Given the description of an element on the screen output the (x, y) to click on. 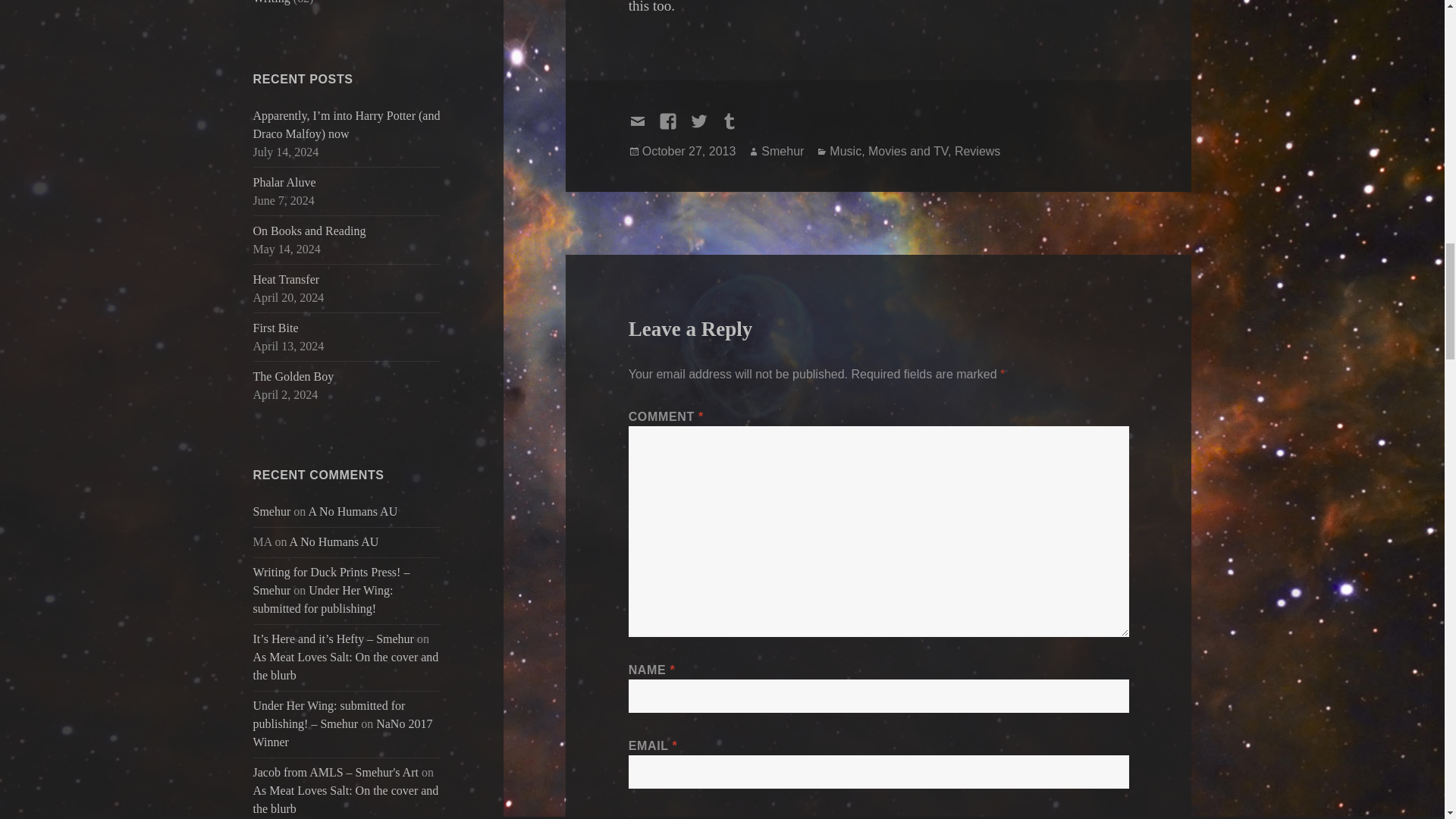
Share on Facebook (673, 127)
Share on Twitter (705, 127)
Share by email (643, 127)
Share on Tumblr (735, 127)
